Given the description of an element on the screen output the (x, y) to click on. 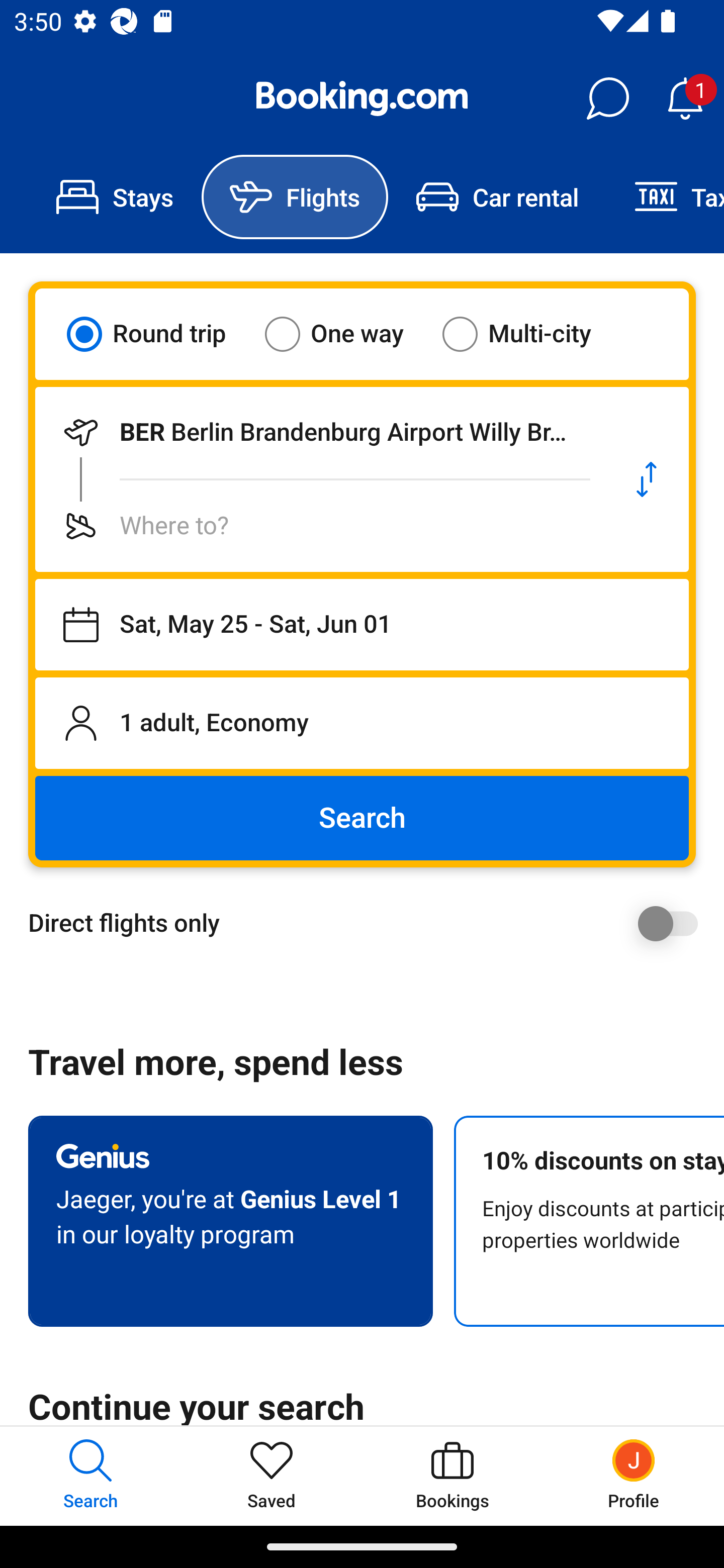
Messages (607, 98)
Notifications (685, 98)
Stays (114, 197)
Flights (294, 197)
Car rental (497, 197)
Taxi (665, 197)
One way (346, 333)
Multi-city (528, 333)
Swap departure location and destination (646, 479)
Flying to  (319, 525)
Departing on Sat, May 25, returning on Sat, Jun 01 (361, 624)
1 adult, Economy (361, 722)
Search (361, 818)
Direct flights only (369, 923)
Saved (271, 1475)
Bookings (452, 1475)
Profile (633, 1475)
